Given the description of an element on the screen output the (x, y) to click on. 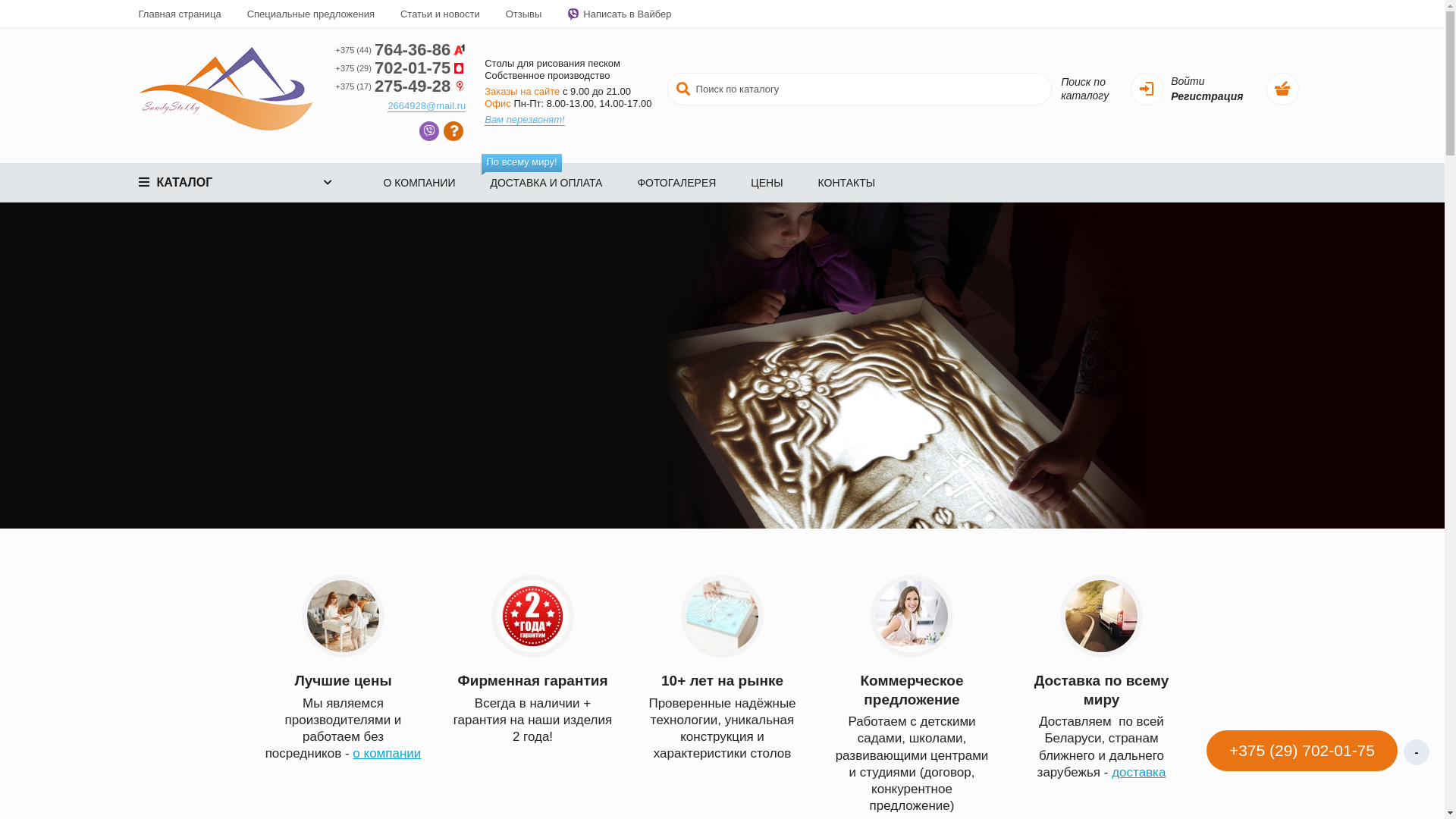
+375 (44)
764-36-86 Element type: text (400, 49)
+375 (17)
275-49-28 Element type: text (400, 86)
+375 (29) 702-01-75 Element type: text (1301, 751)
2664928@mail.ru Element type: text (426, 106)
- Element type: text (1416, 752)
+375 (29)
702-01-75 Element type: text (400, 68)
